Given the description of an element on the screen output the (x, y) to click on. 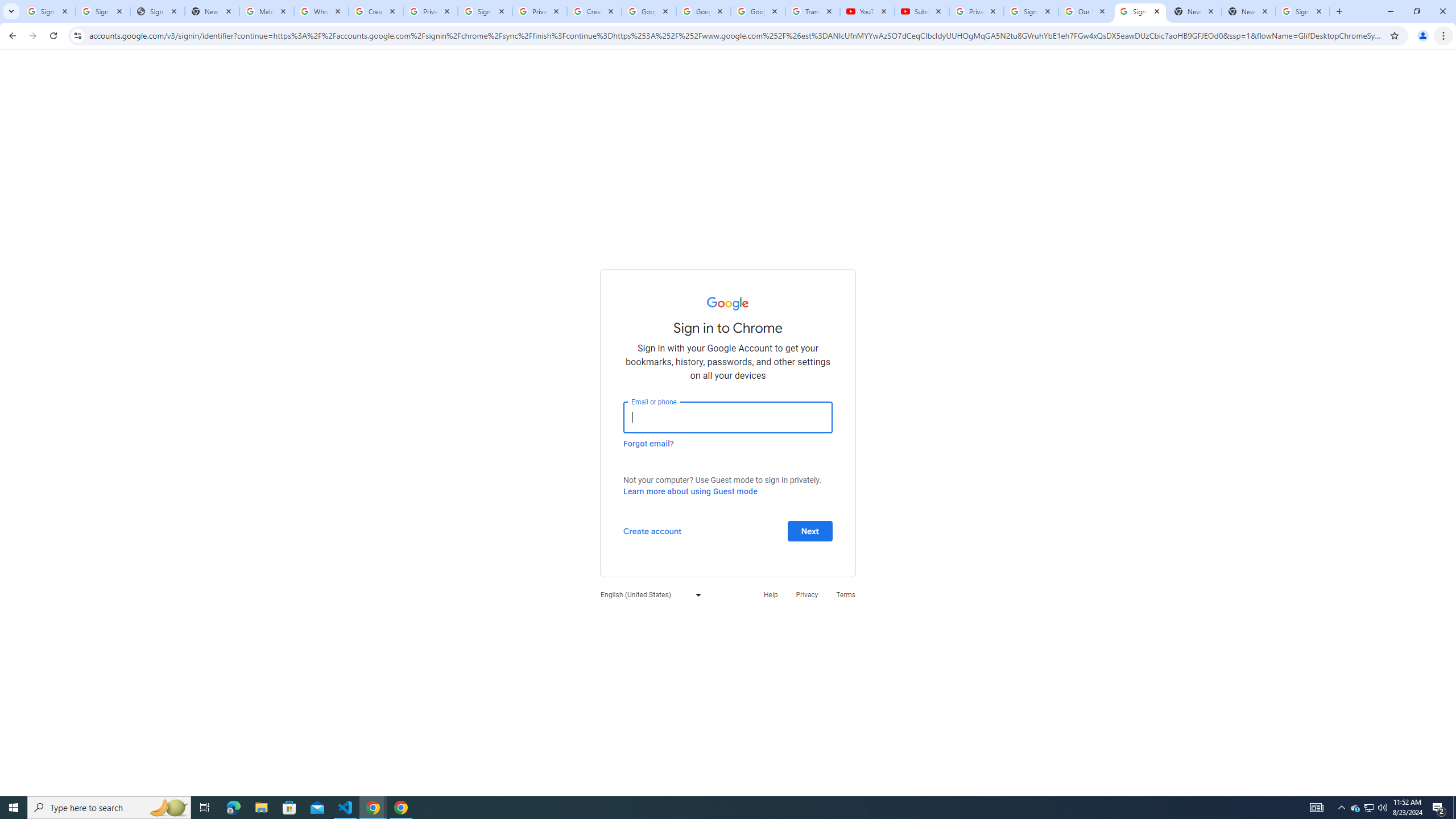
Who is my administrator? - Google Account Help (320, 11)
Create account (651, 530)
Forgot email? (648, 443)
Sign in - Google Accounts (1140, 11)
Next (809, 530)
